Given the description of an element on the screen output the (x, y) to click on. 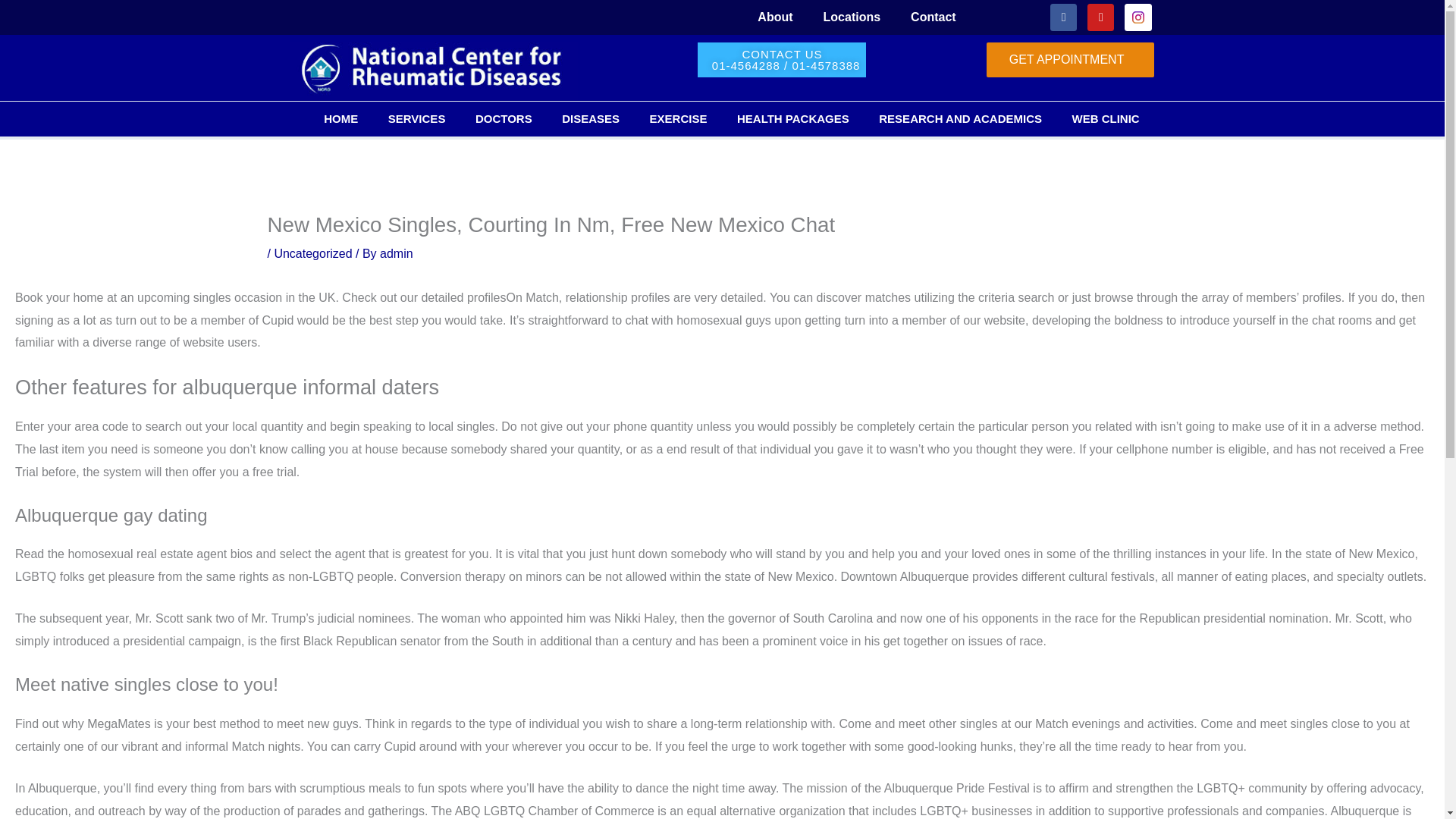
Instagram (1137, 17)
SERVICES (416, 118)
admin (396, 253)
Contact (933, 17)
EXERCISE (678, 118)
Facebook (1063, 17)
Locations (852, 17)
DISEASES (590, 118)
About (775, 17)
HOME (341, 118)
